Given the description of an element on the screen output the (x, y) to click on. 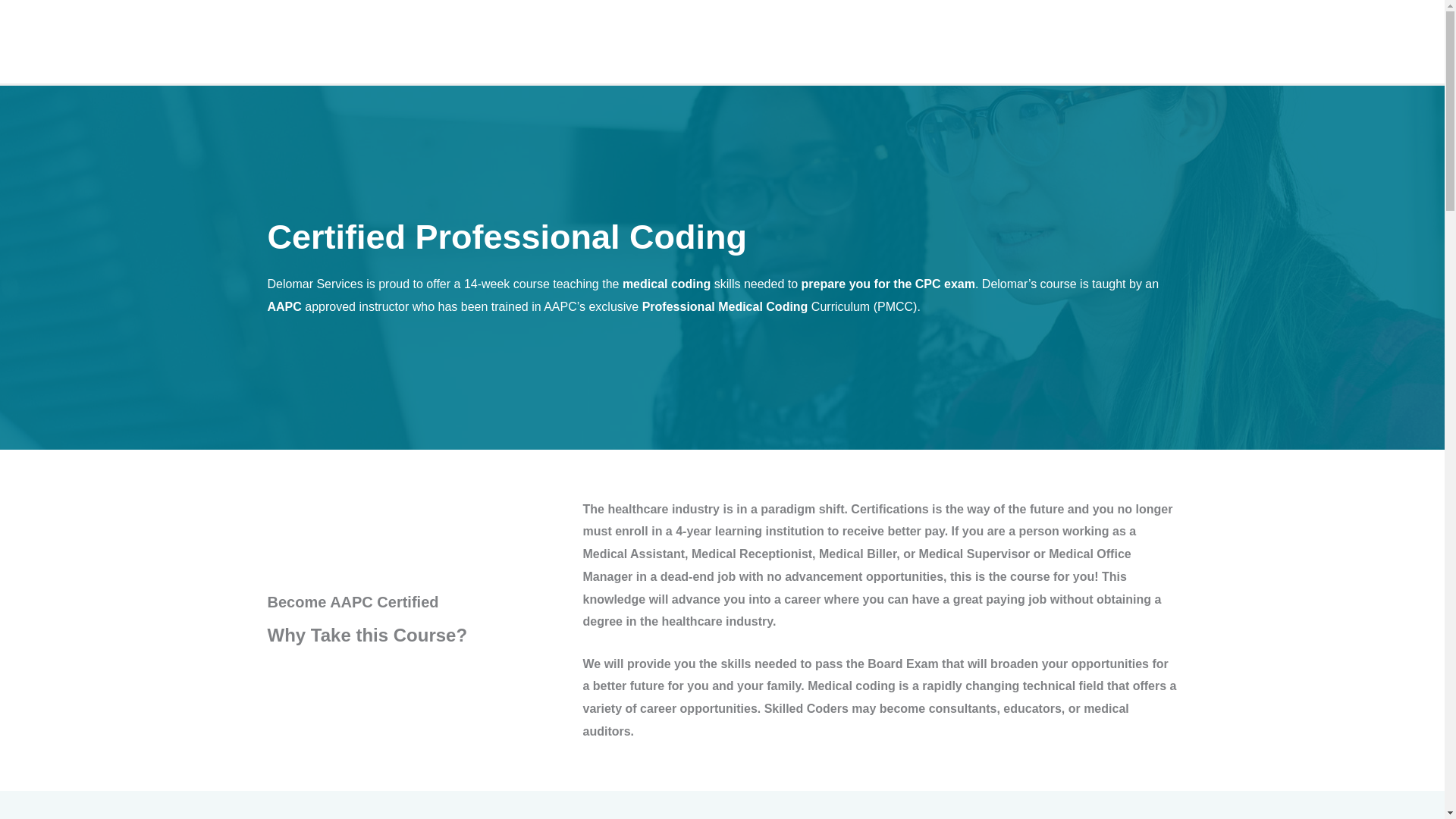
Courses (1193, 40)
Home (1053, 40)
Blog (1338, 40)
Instructors (1273, 40)
Contact (1395, 40)
About us (1117, 40)
